Given the description of an element on the screen output the (x, y) to click on. 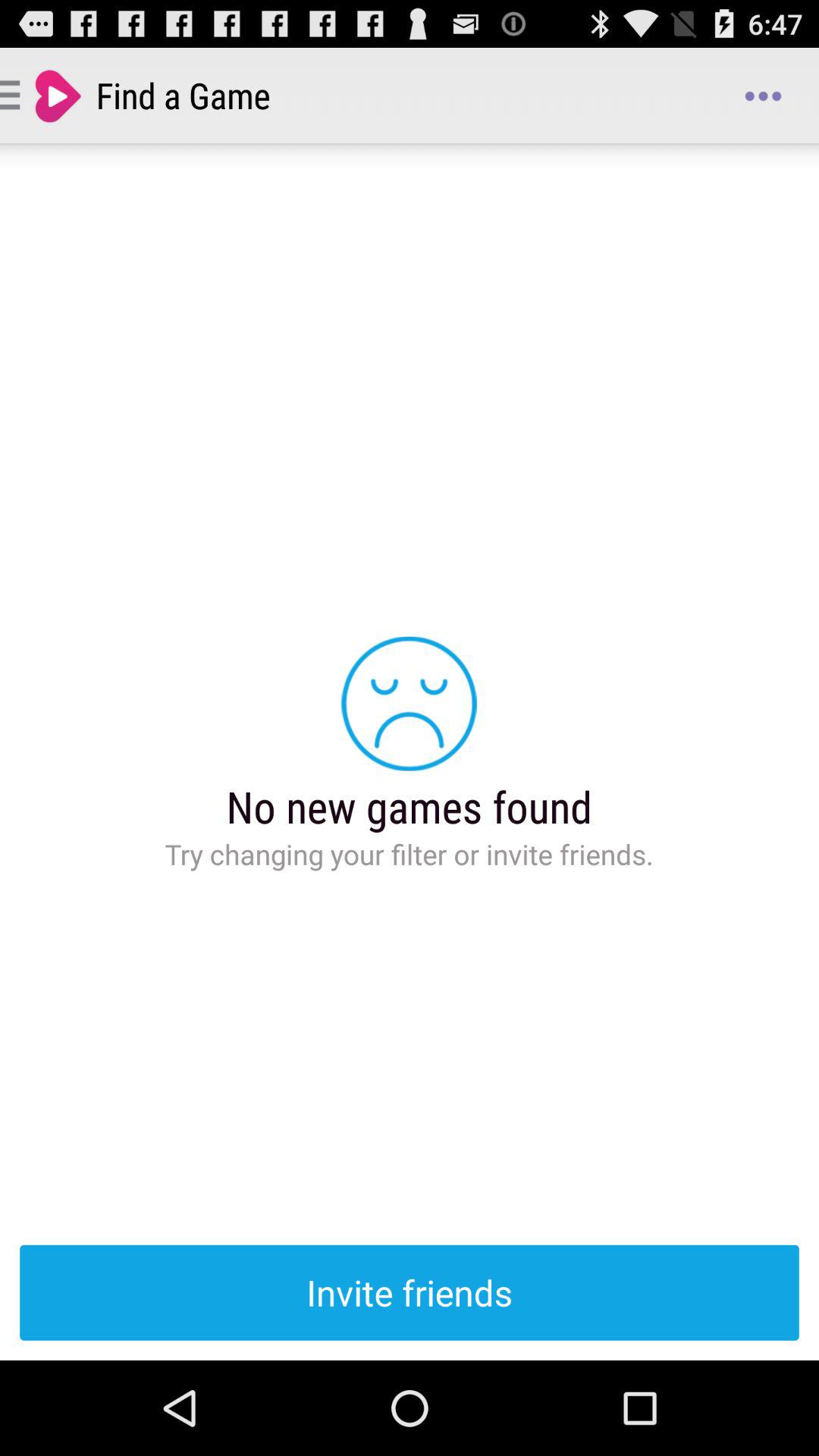
turn off button above the invite friends (763, 95)
